Given the description of an element on the screen output the (x, y) to click on. 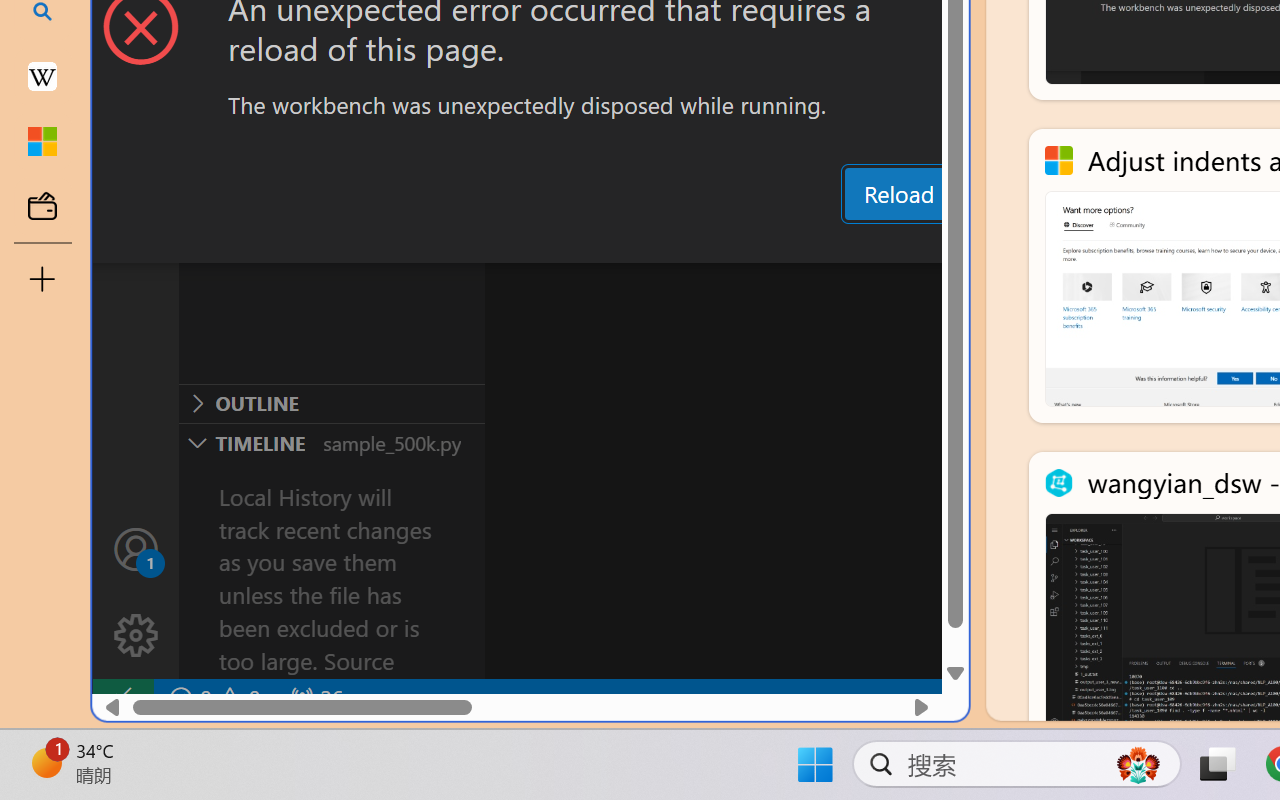
Manage (135, 591)
Problems (Ctrl+Shift+M) (567, 243)
Earth - Wikipedia (42, 75)
Output (Ctrl+Shift+U) (696, 243)
Timeline Section (331, 442)
Debug Console (Ctrl+Shift+Y) (854, 243)
Accounts - Sign in requested (135, 548)
Outline Section (331, 403)
